Given the description of an element on the screen output the (x, y) to click on. 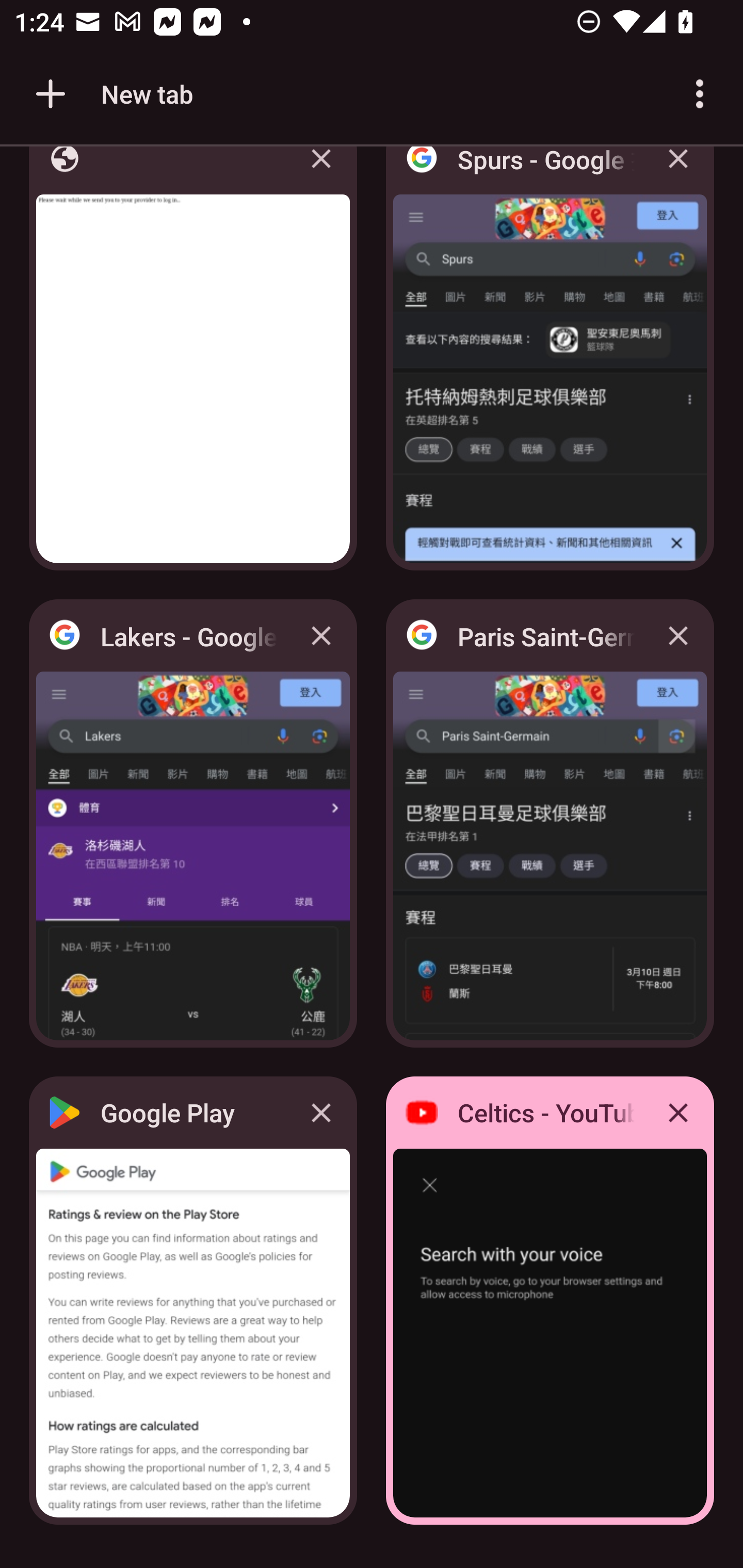
New tab (111, 93)
Customize and control Google Chrome (699, 93)
, tab Close  tab (192, 364)
Close  tab (320, 173)
Close Spurs - Google 搜尋 tab (677, 173)
Close Lakers - Google 搜尋 tab (320, 635)
Close Paris Saint-Germain - Google 搜尋 tab (677, 635)
Google Play Google Play, tab Close Google Play tab (192, 1300)
Close Google Play tab (320, 1112)
Close Celtics - YouTube tab (677, 1112)
